Given the description of an element on the screen output the (x, y) to click on. 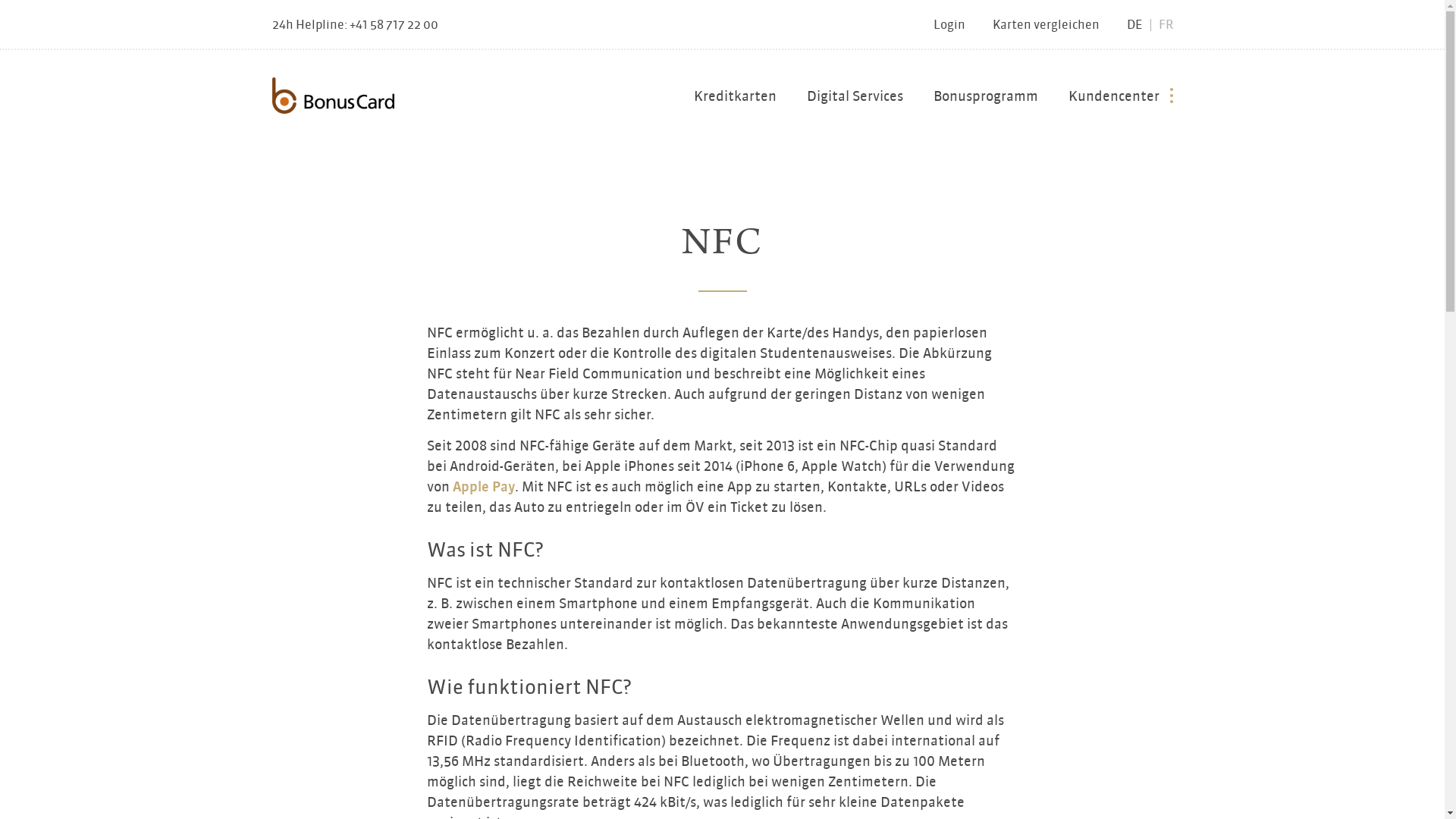
Visa Bonus Card Startseite Element type: hover (332, 95)
Kreditkarten Element type: text (734, 99)
Kundencenter Element type: text (1119, 99)
Karten vergleichen Element type: text (1031, 25)
Bonusprogramm Element type: text (984, 99)
Apple Pay Element type: text (482, 485)
Direkt zum Inhalt Element type: text (0, 0)
FR Element type: text (1165, 24)
Login Element type: text (934, 25)
DE Element type: text (1134, 24)
Digital Services Element type: text (854, 99)
